Given the description of an element on the screen output the (x, y) to click on. 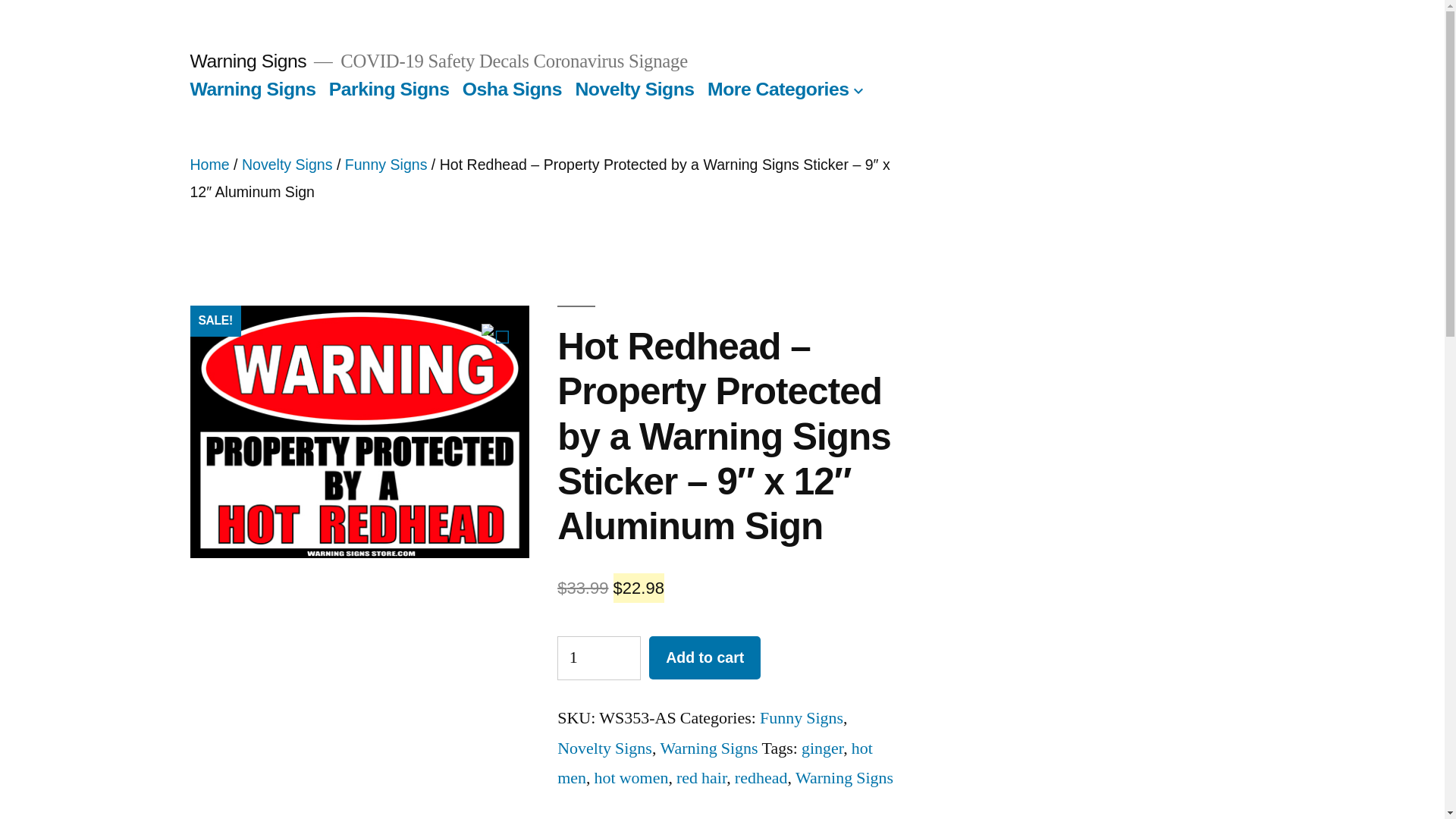
Osha Signs (512, 88)
Warning Signs (252, 88)
Novelty Signs (604, 748)
Funny Signs (386, 164)
Warning Signs (843, 777)
Warning Signs (247, 60)
Funny Signs (801, 717)
red hair (701, 777)
Warning Signs (708, 748)
1 (598, 657)
